Given the description of an element on the screen output the (x, y) to click on. 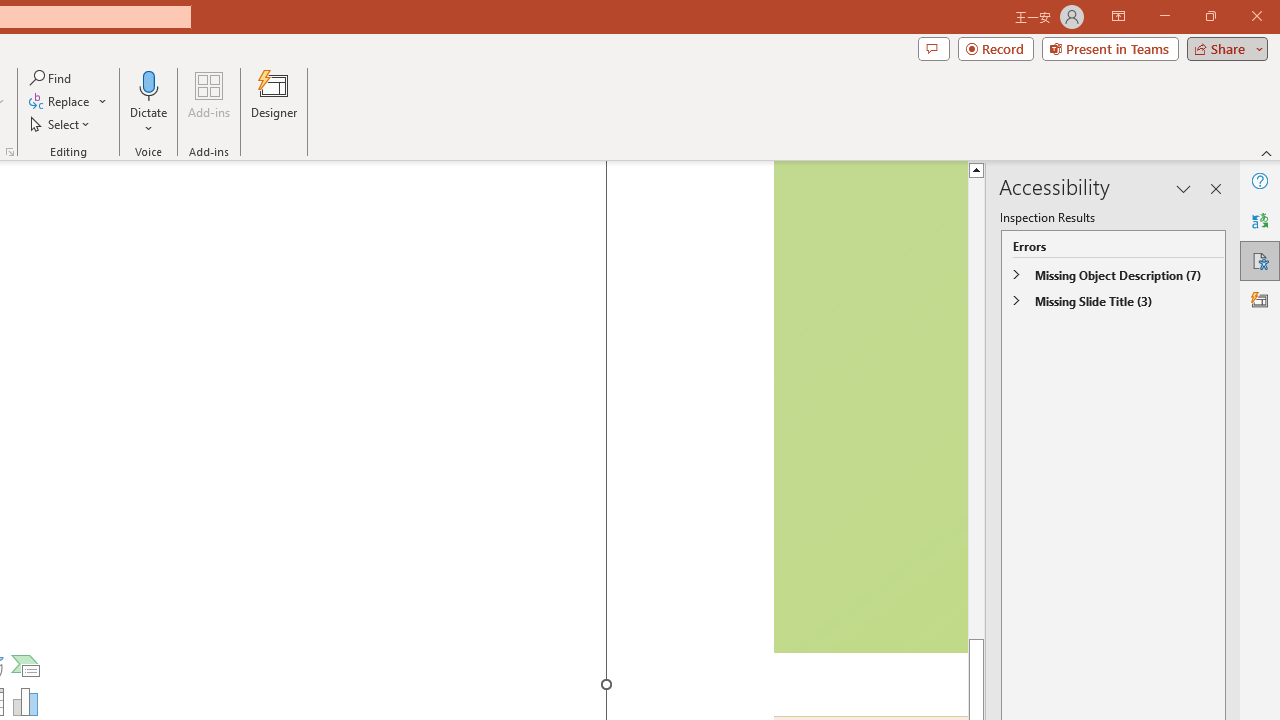
Insert a SmartArt Graphic (26, 665)
Insert Chart (26, 701)
